Given the description of an element on the screen output the (x, y) to click on. 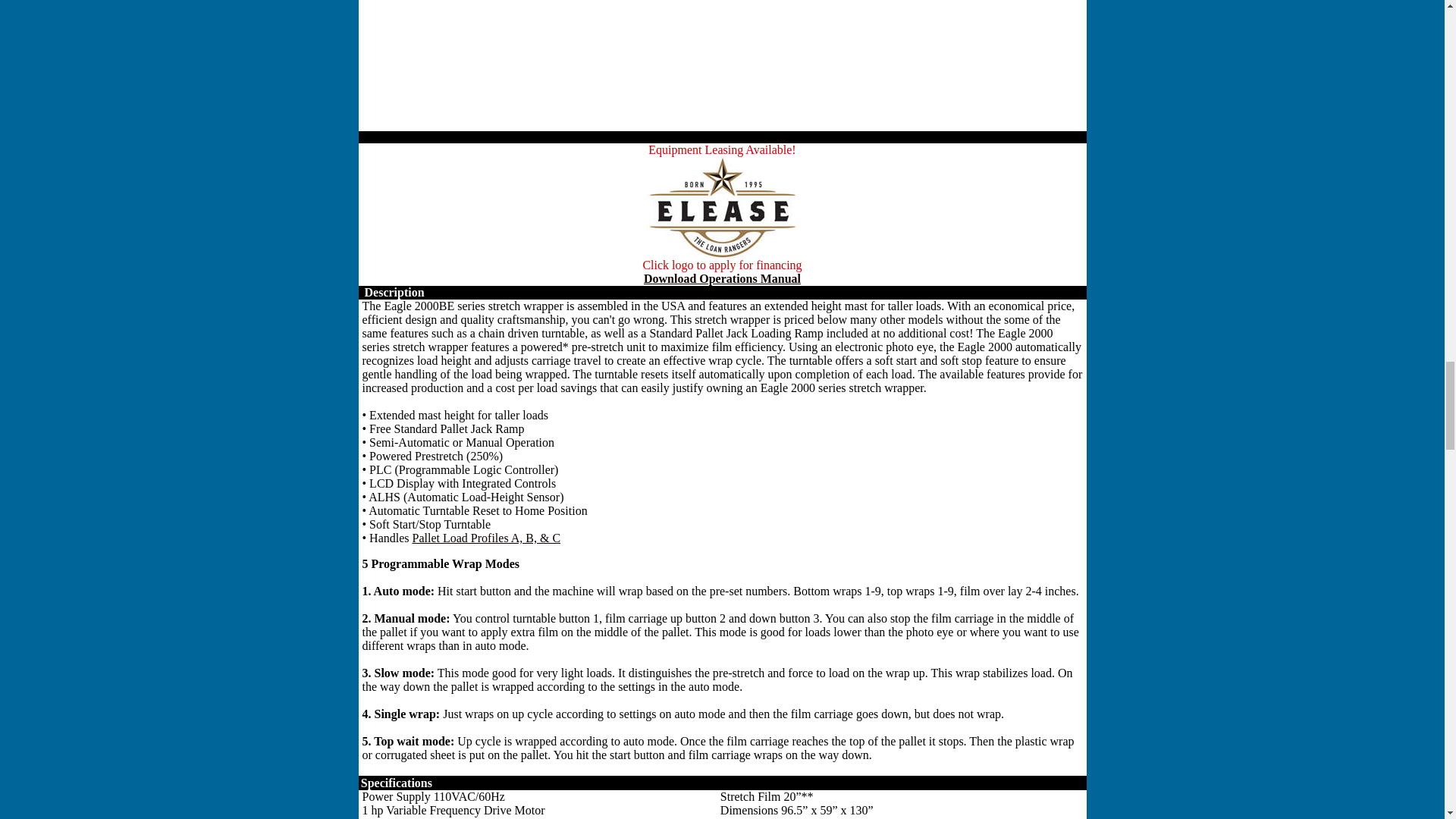
Download Operations Manual (721, 278)
